Given the description of an element on the screen output the (x, y) to click on. 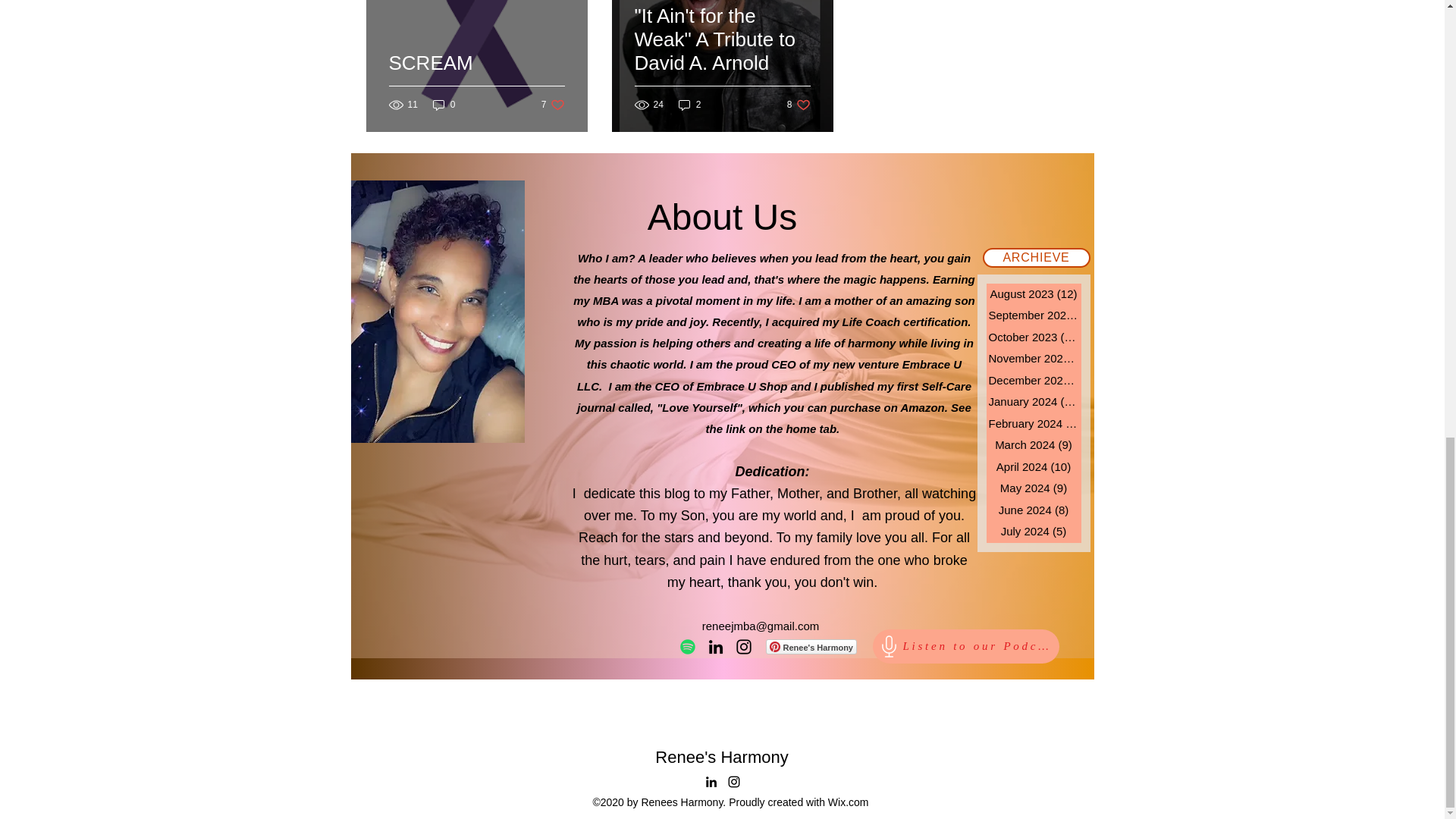
2 (552, 104)
"It Ain't for the Weak" A Tribute to David A. Arnold (798, 104)
0 (690, 104)
Renee's Harmony (721, 57)
SCREAM (443, 104)
ARCHIEVE (811, 646)
